Given the description of an element on the screen output the (x, y) to click on. 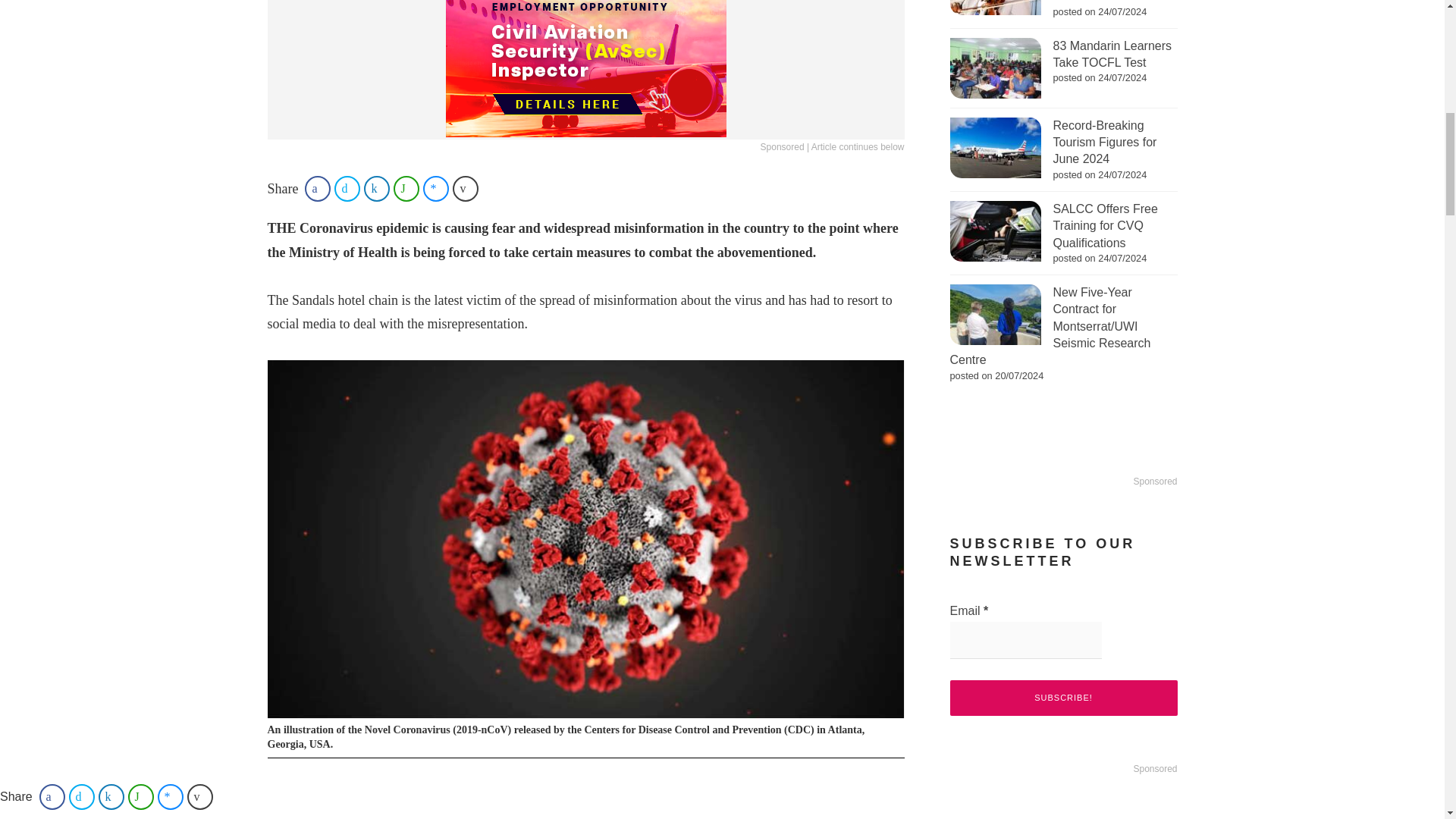
Share on Facebook (317, 188)
Subscribe! (1062, 697)
Share on Twitter (346, 188)
Share on WhatsApp (406, 188)
Share on Email (465, 188)
Share on Facebook Messenger (435, 188)
Share on LinkedIn (377, 188)
